Given the description of an element on the screen output the (x, y) to click on. 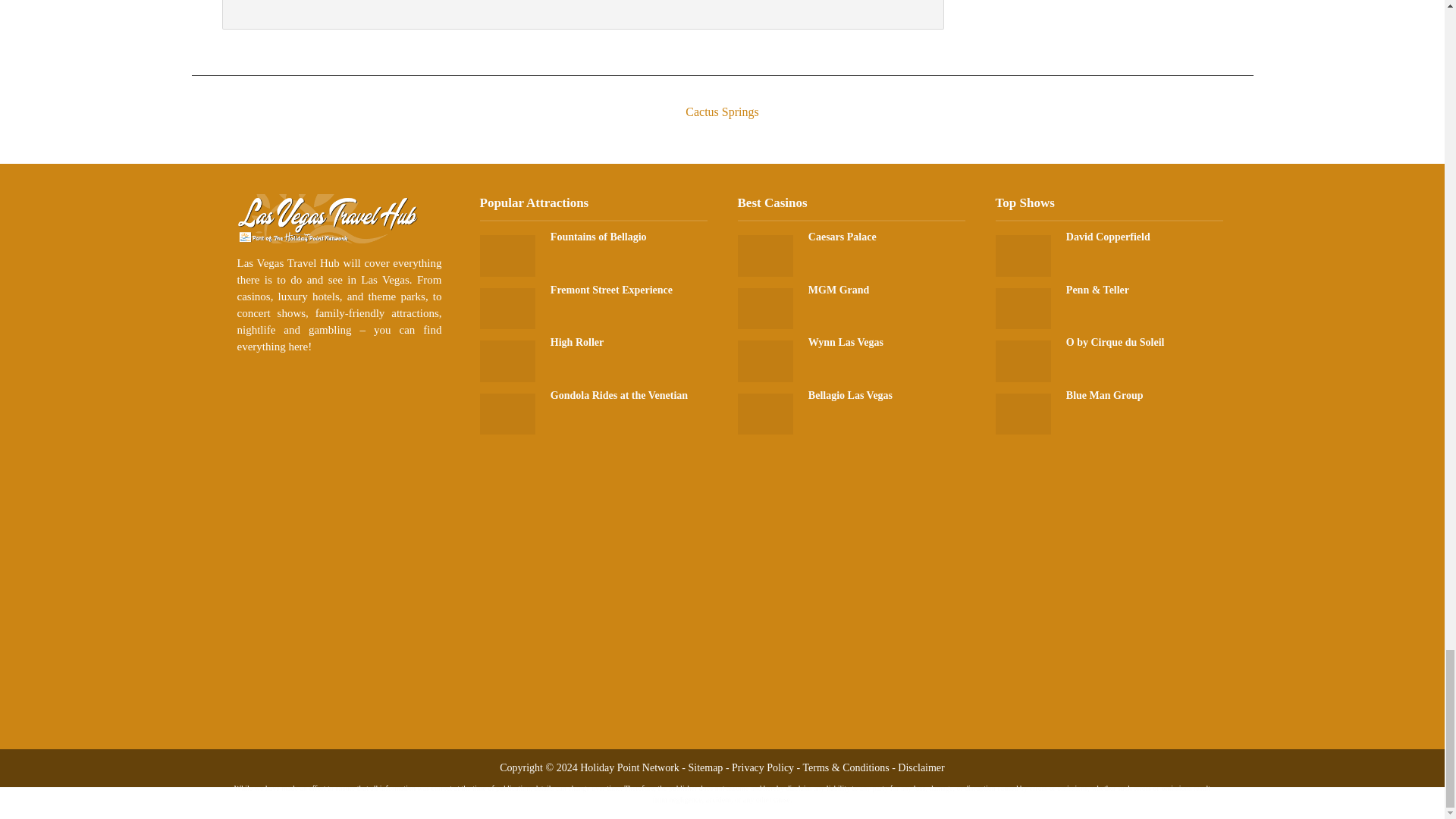
Cactus Springs (721, 98)
